Given the description of an element on the screen output the (x, y) to click on. 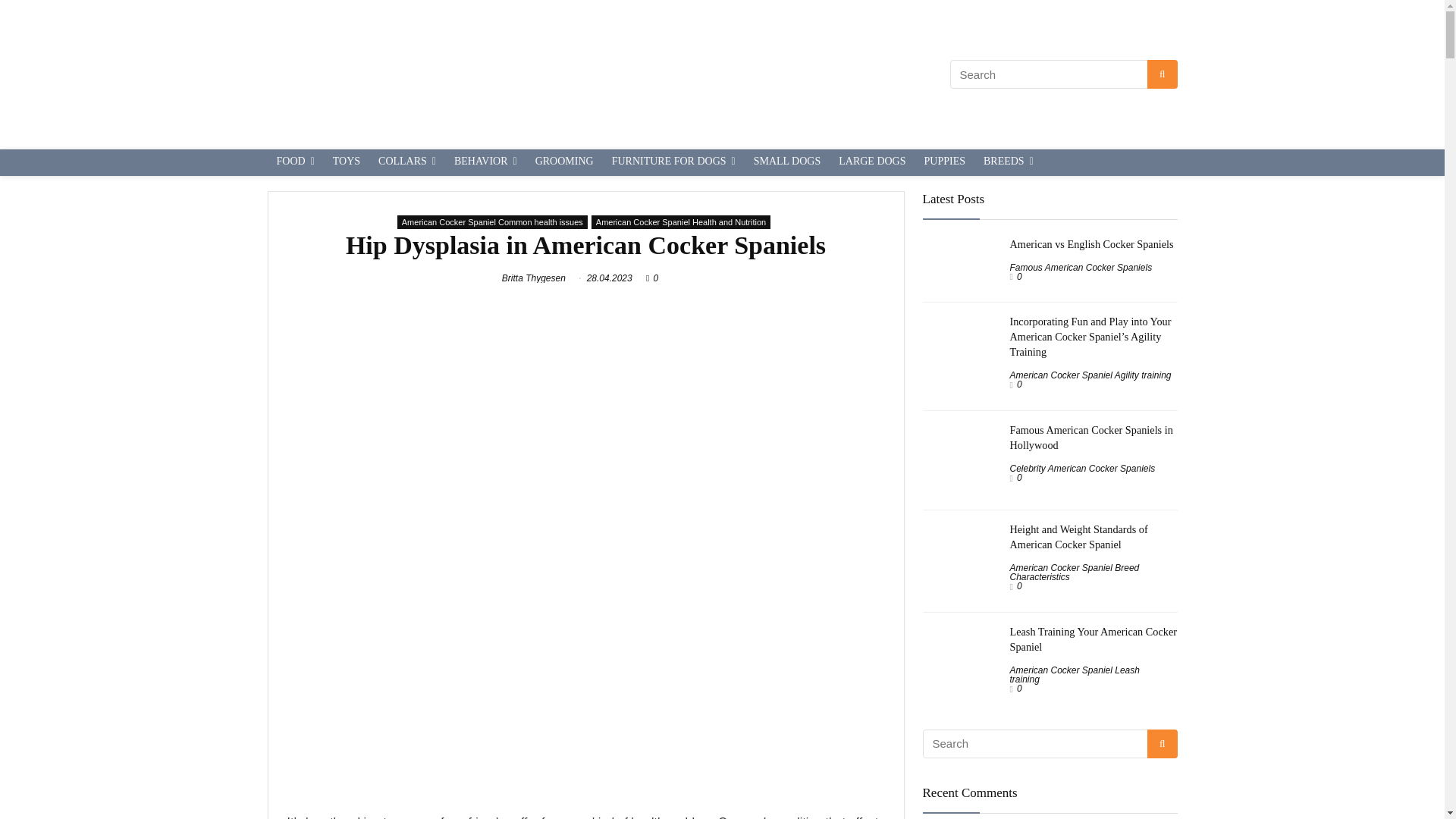
Britta Thygesen (534, 277)
SMALL DOGS (786, 162)
BEHAVIOR (485, 162)
BREEDS (1008, 162)
American Cocker Spaniel Health and Nutrition (680, 222)
FOOD (294, 162)
FURNITURE FOR DOGS (673, 162)
PUPPIES (944, 162)
